Given the description of an element on the screen output the (x, y) to click on. 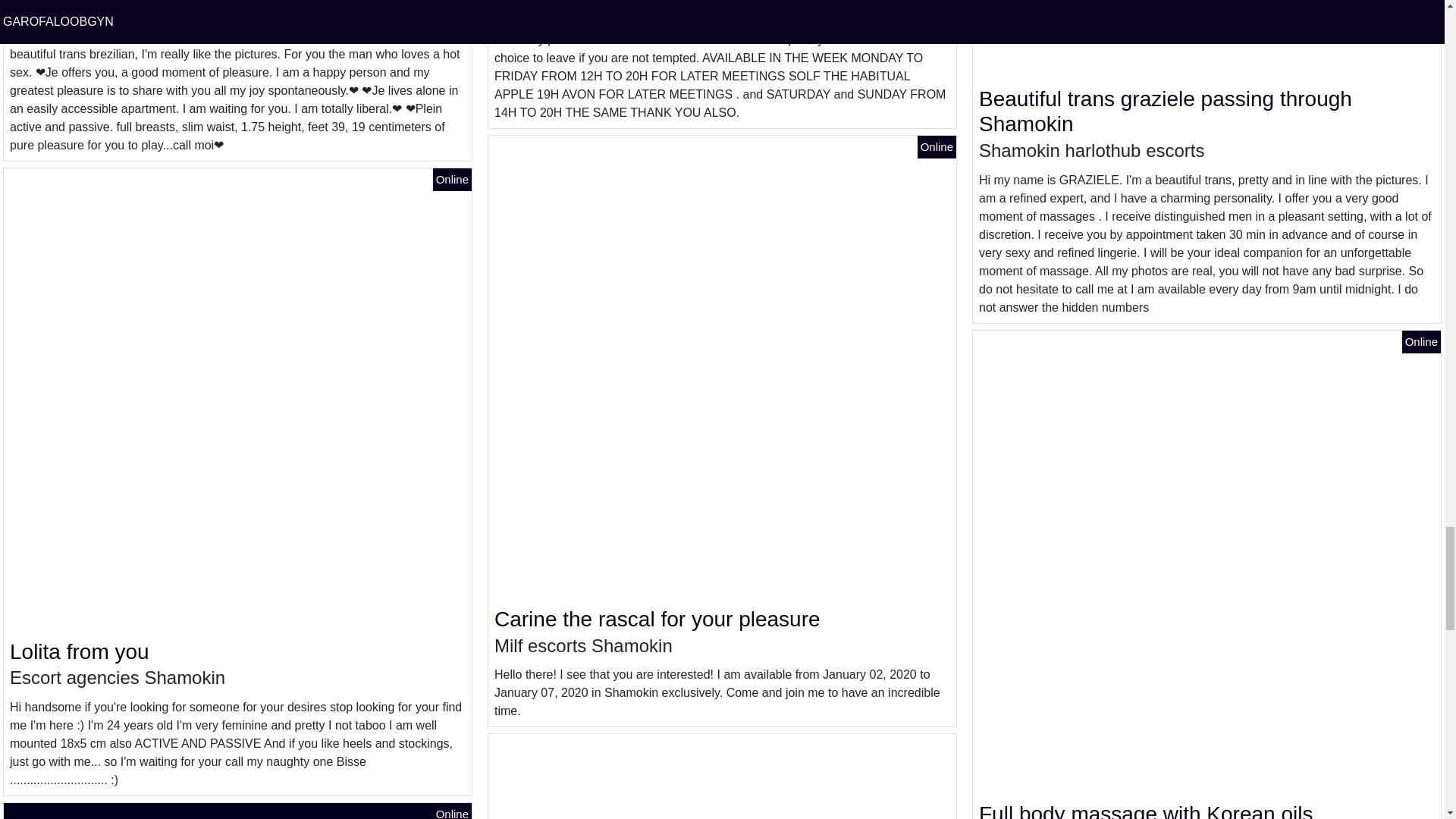
Carine the rascal for your pleasure (658, 618)
Lolita from you (79, 651)
